Given the description of an element on the screen output the (x, y) to click on. 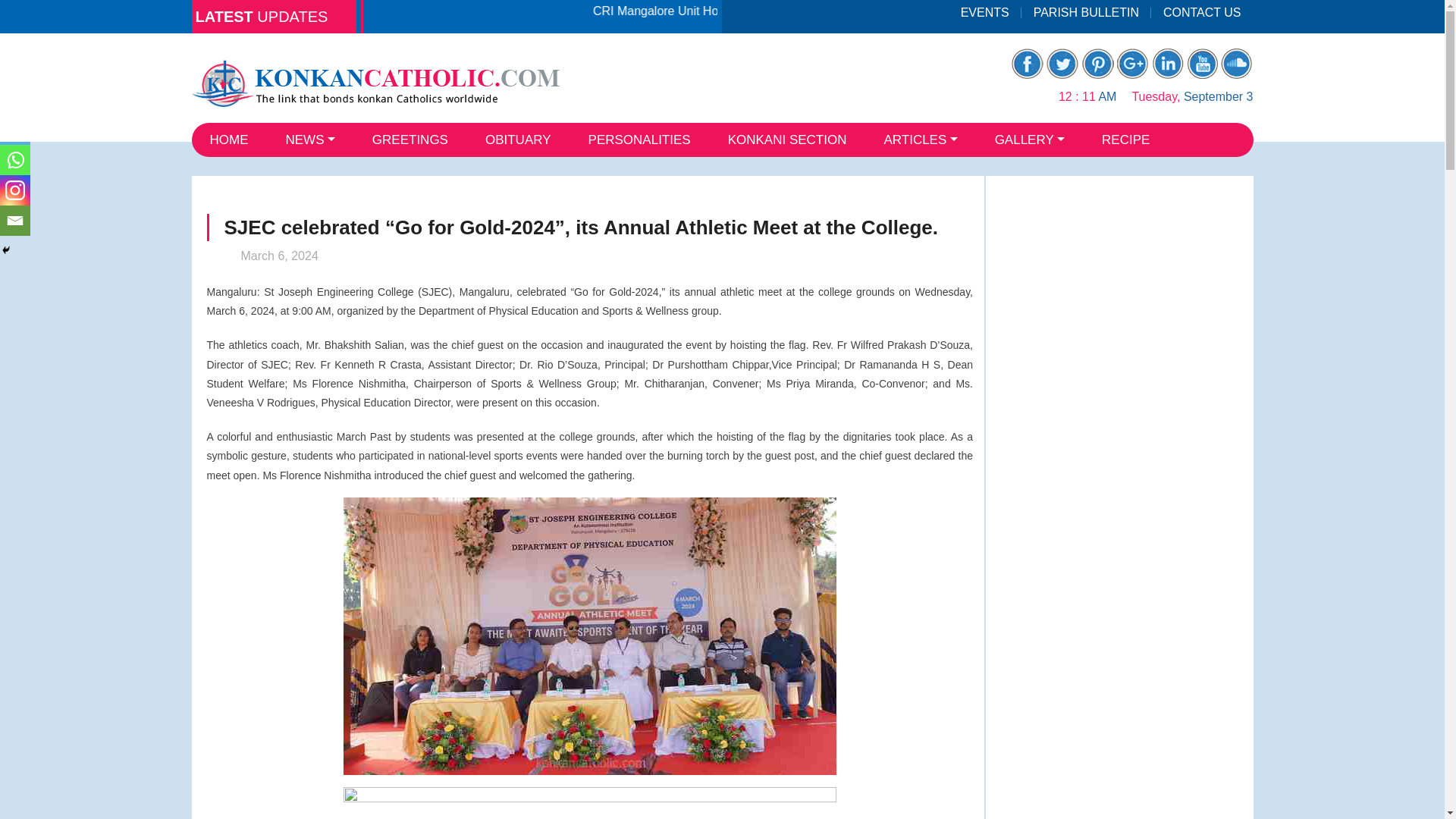
NEWS (309, 139)
Greetings (409, 139)
GALLERY (1029, 139)
OBITUARY (518, 139)
ARTICLES (919, 139)
Home (228, 139)
Events (985, 12)
EVENTS (985, 12)
